Given the description of an element on the screen output the (x, y) to click on. 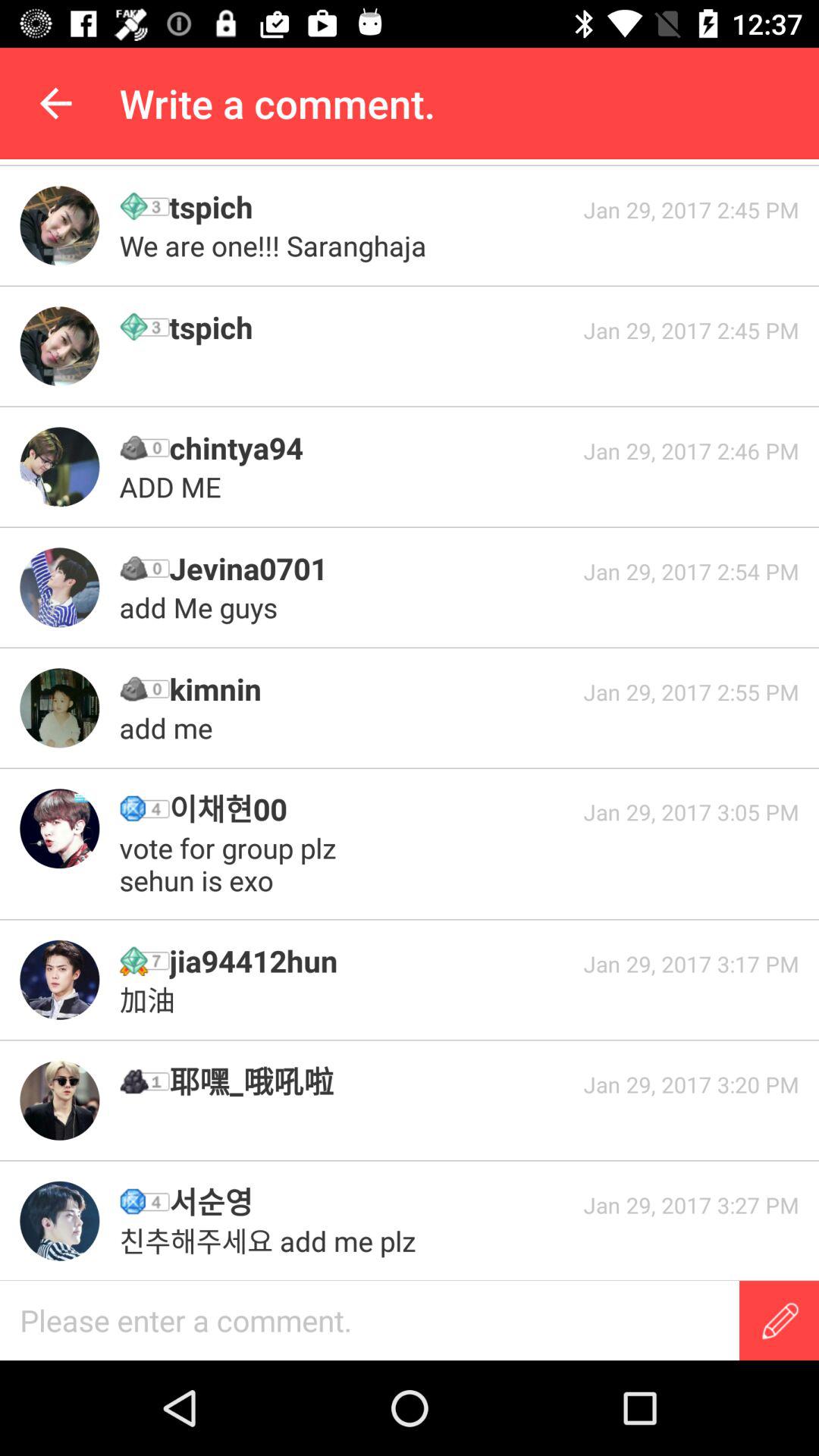
view profile picture (59, 707)
